Given the description of an element on the screen output the (x, y) to click on. 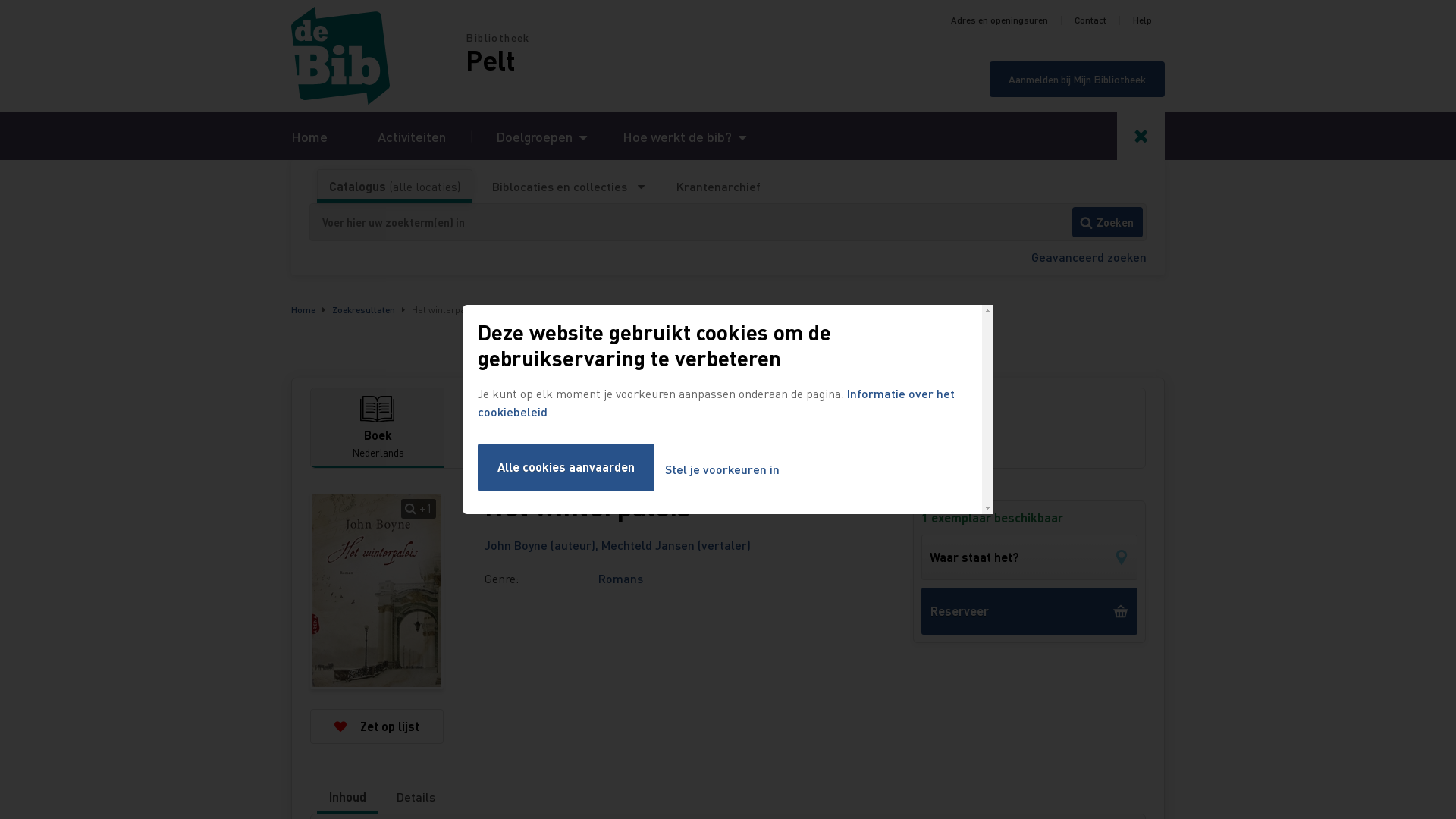
Contact Element type: text (1090, 20)
Activiteiten Element type: text (411, 136)
Aanmelden bij Mijn Bibliotheek Element type: text (1076, 79)
Details Element type: text (415, 796)
Zoeken Element type: text (1107, 222)
Home Element type: text (309, 136)
Help Element type: text (1141, 20)
Waar staat het? Element type: text (1029, 557)
Toggle search Element type: hover (1140, 136)
Overslaan en naar zoeken gaan Element type: text (0, 0)
Geavanceerd zoeken Element type: text (1088, 256)
Zoekresultaten Element type: text (363, 309)
Romans Element type: text (620, 578)
Adres en openingsuren Element type: text (999, 20)
Reserveer Element type: text (1029, 610)
Zet op lijst Element type: text (376, 726)
John Boyne (auteur), Element type: text (542, 544)
Home Element type: hover (378, 55)
Catalogus (alle locaties) Element type: text (394, 186)
Home Element type: text (303, 309)
Stel je voorkeuren in Element type: text (722, 469)
Krantenarchief Element type: text (718, 186)
Alle cookies aanvaarden Element type: text (565, 466)
Biblocaties en collecties Element type: text (567, 186)
Inhoud Element type: text (347, 796)
Informatie over het cookiebeleid Element type: text (715, 402)
Mechteld Jansen (vertaler) Element type: text (675, 544)
